Given the description of an element on the screen output the (x, y) to click on. 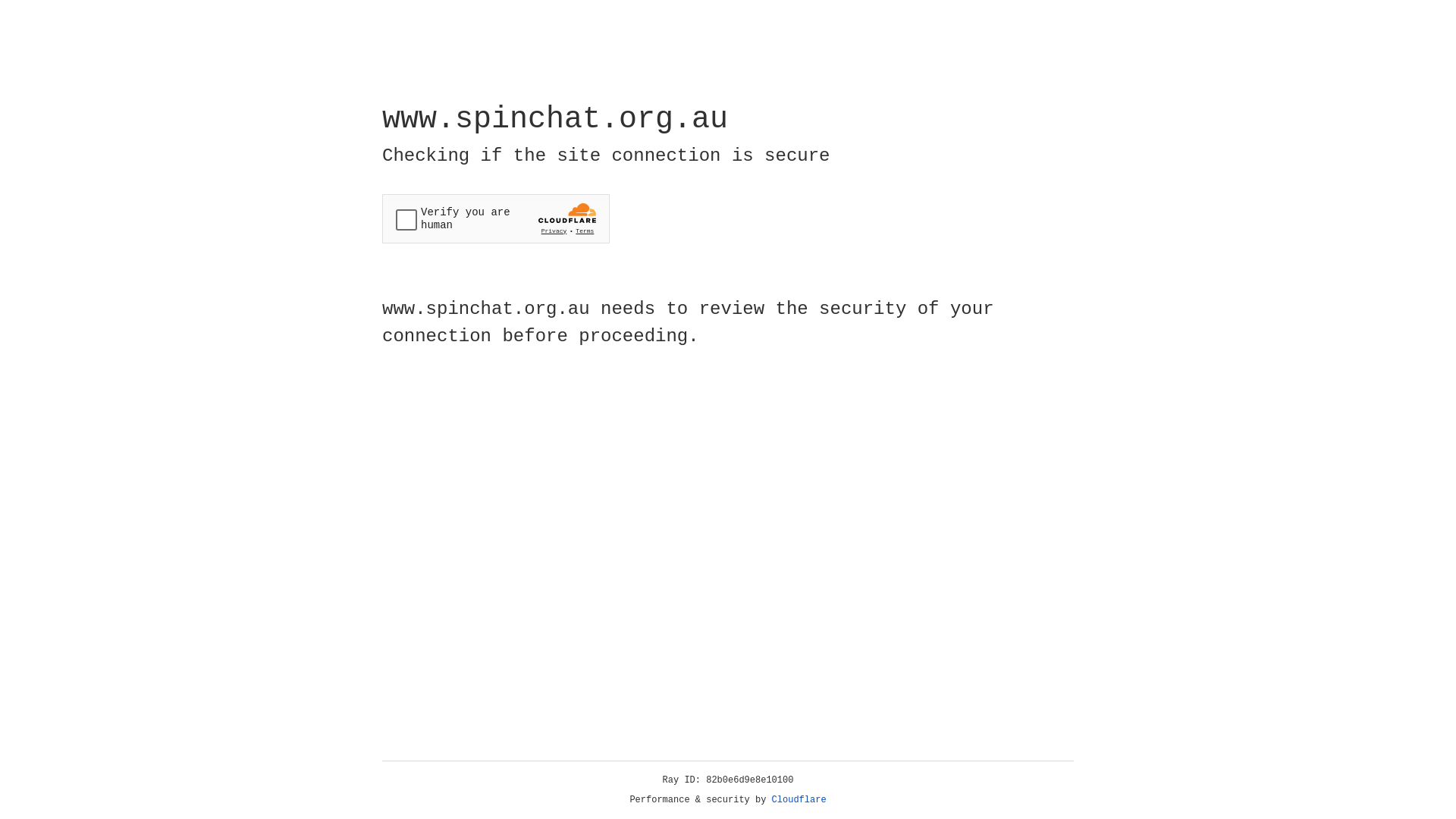
Widget containing a Cloudflare security challenge Element type: hover (495, 218)
Cloudflare Element type: text (798, 799)
